Given the description of an element on the screen output the (x, y) to click on. 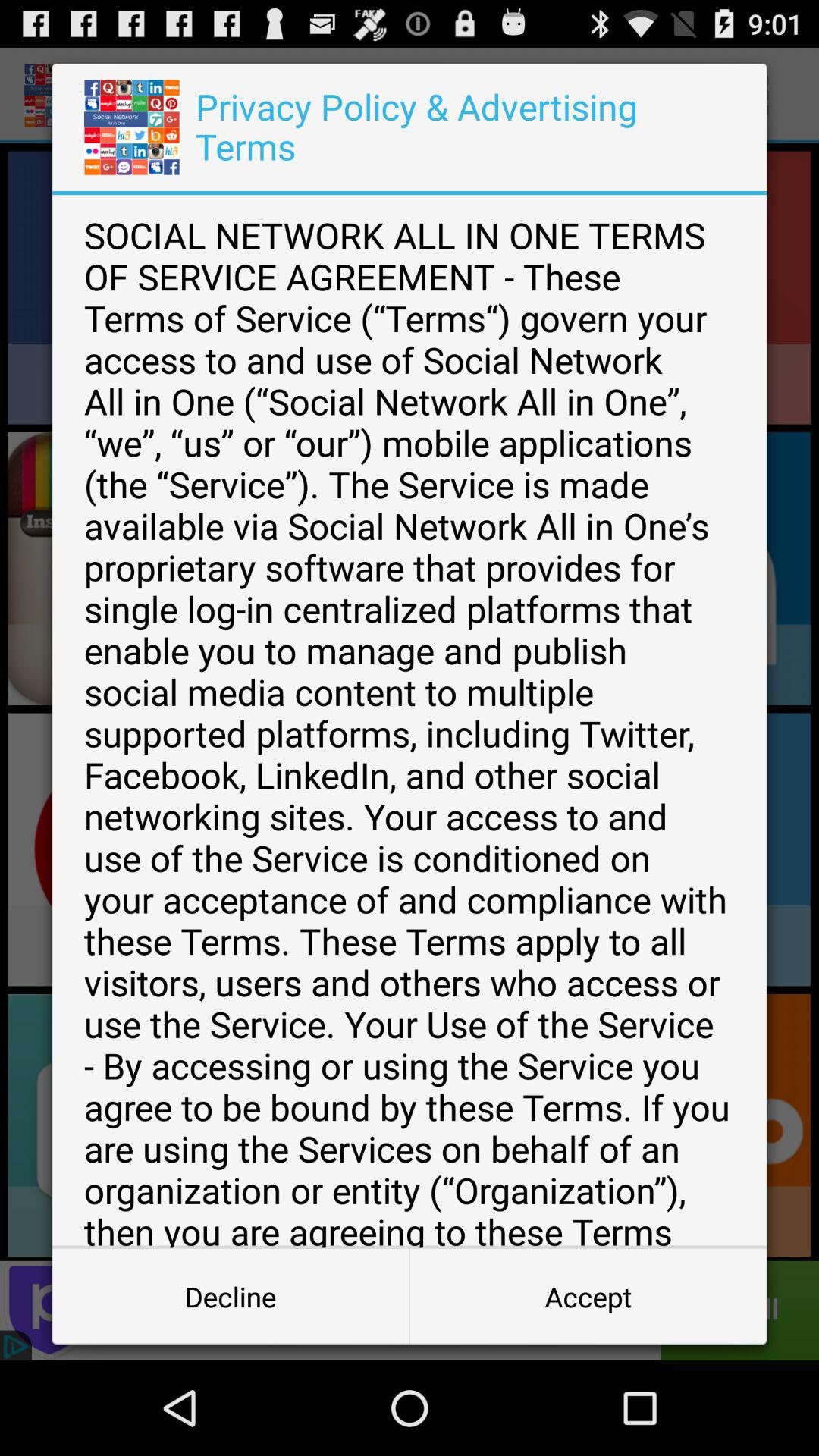
click item below social network all item (588, 1296)
